Given the description of an element on the screen output the (x, y) to click on. 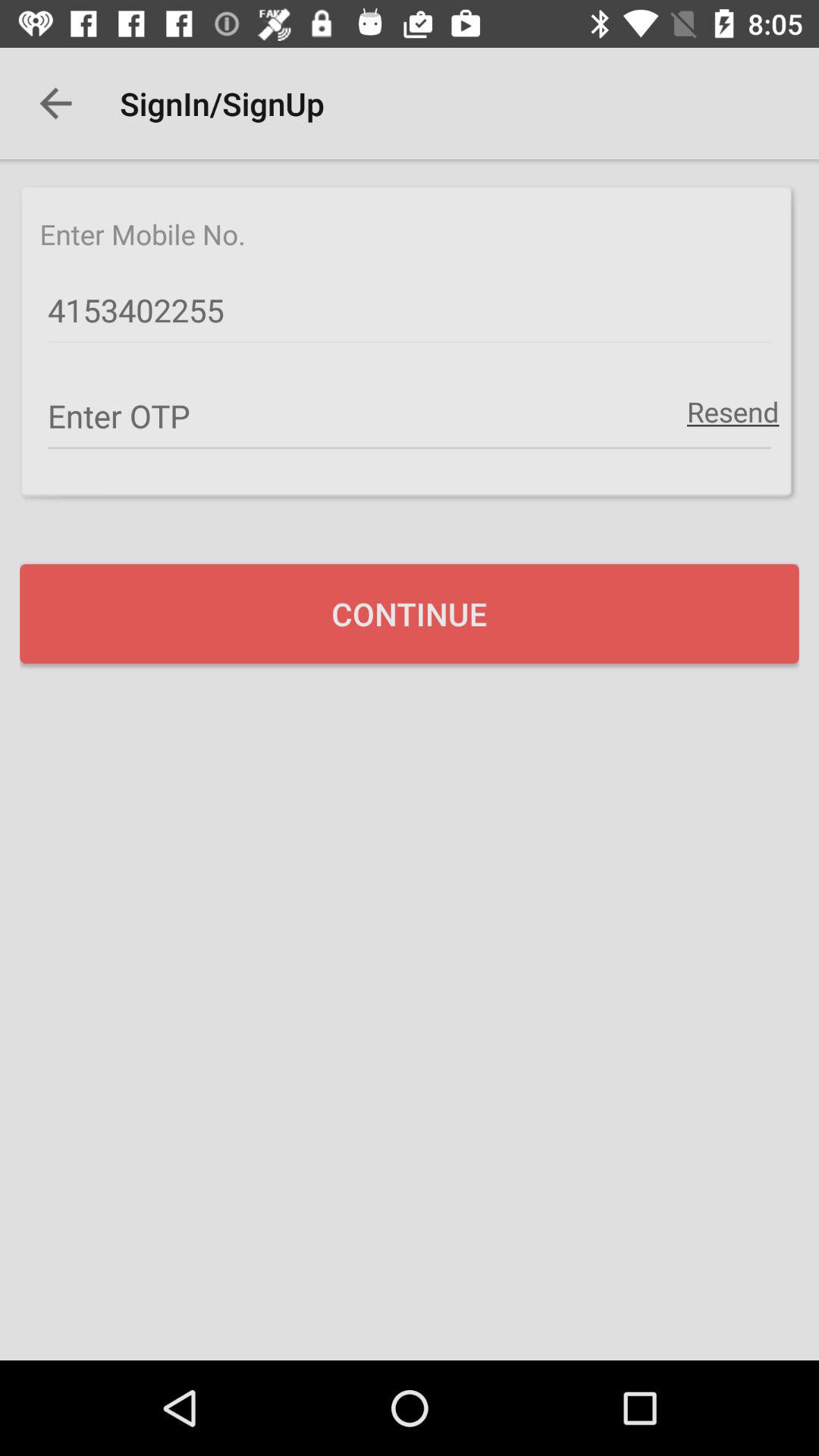
tap the resend icon (733, 411)
